Given the description of an element on the screen output the (x, y) to click on. 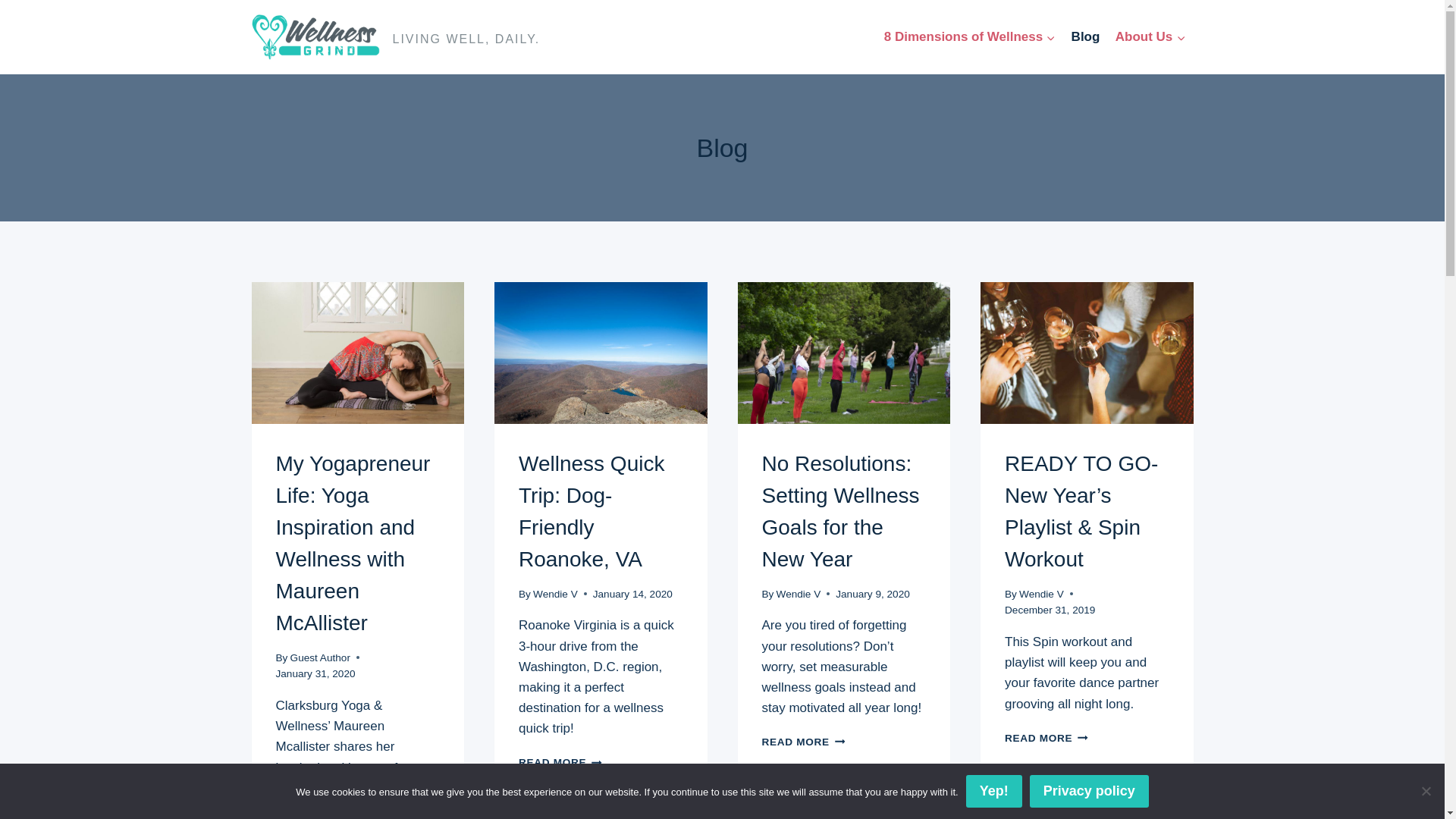
About Us (1150, 36)
8 Dimensions of Wellness (560, 762)
Guest Author (970, 36)
Wendie V (319, 657)
Blog (1041, 593)
No (1084, 36)
Wendie V (1425, 790)
No Resolutions: Setting Wellness Goals for the New Year (555, 593)
LIVING WELL, DAILY. (839, 511)
Wellness Quick Trip: Dog-Friendly Roanoke, VA (395, 36)
Wendie V (590, 511)
